Given the description of an element on the screen output the (x, y) to click on. 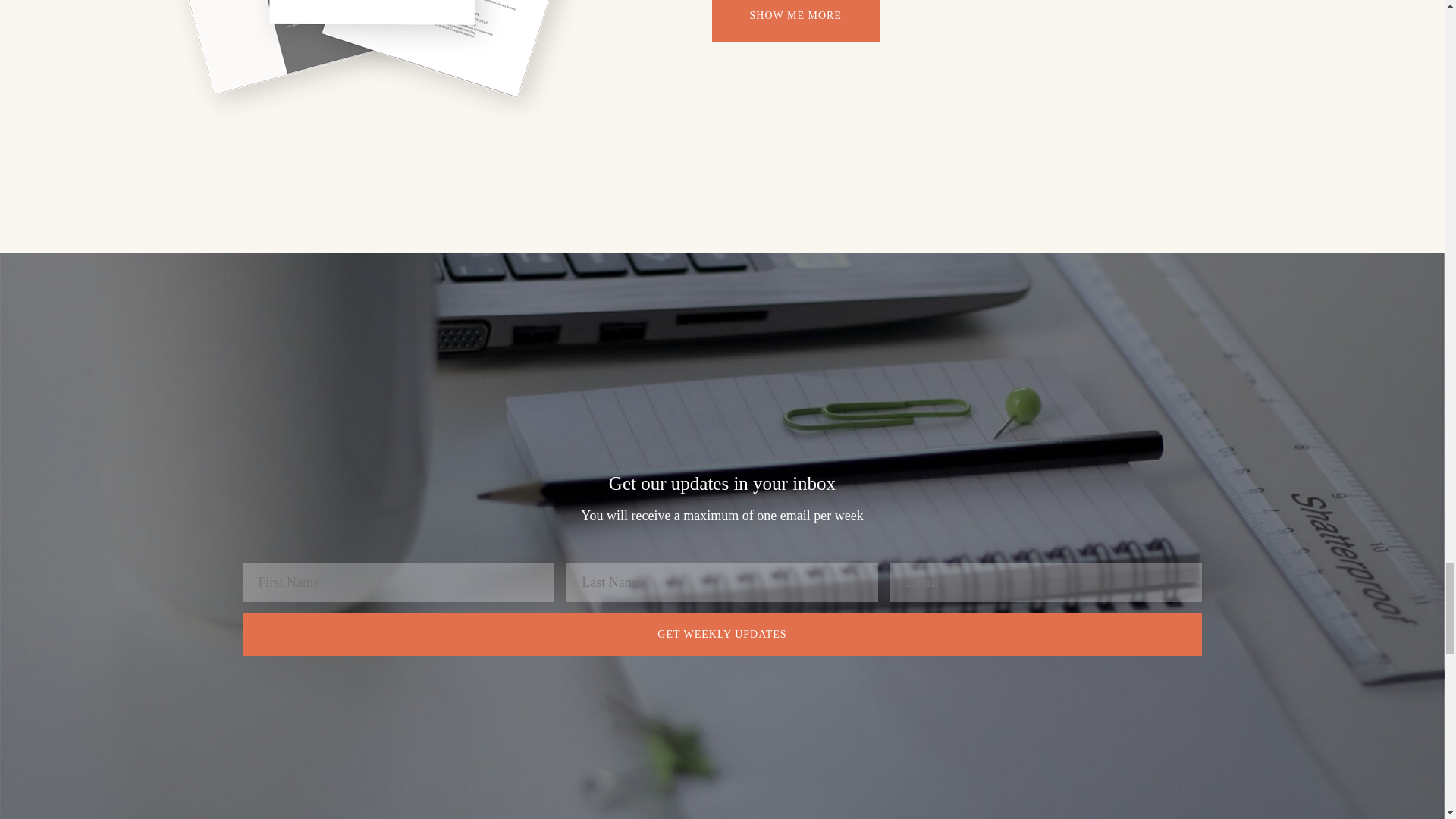
GET WEEKLY UPDATES (722, 634)
